Given the description of an element on the screen output the (x, y) to click on. 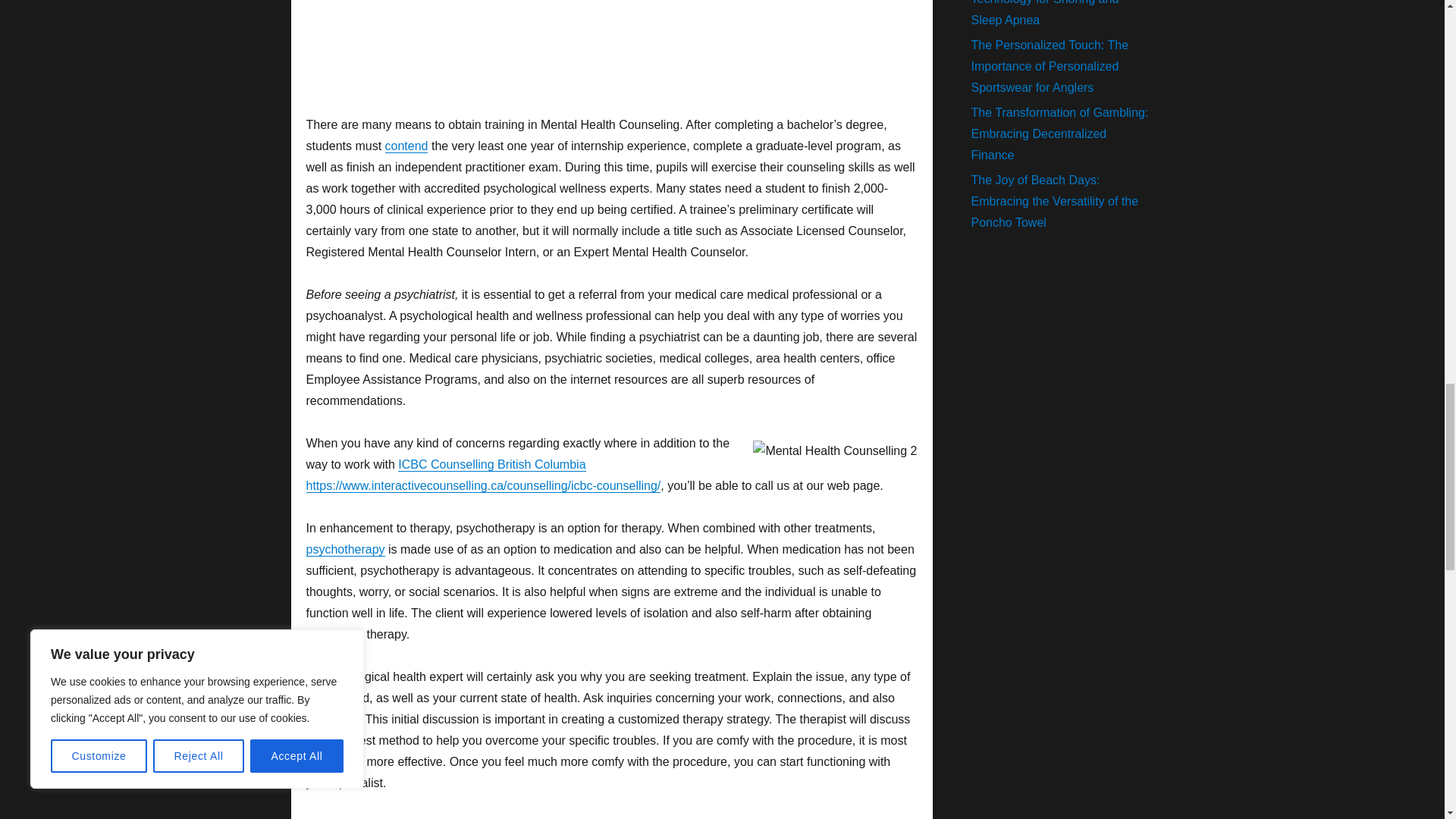
psychotherapy (345, 549)
contend (406, 145)
